Given the description of an element on the screen output the (x, y) to click on. 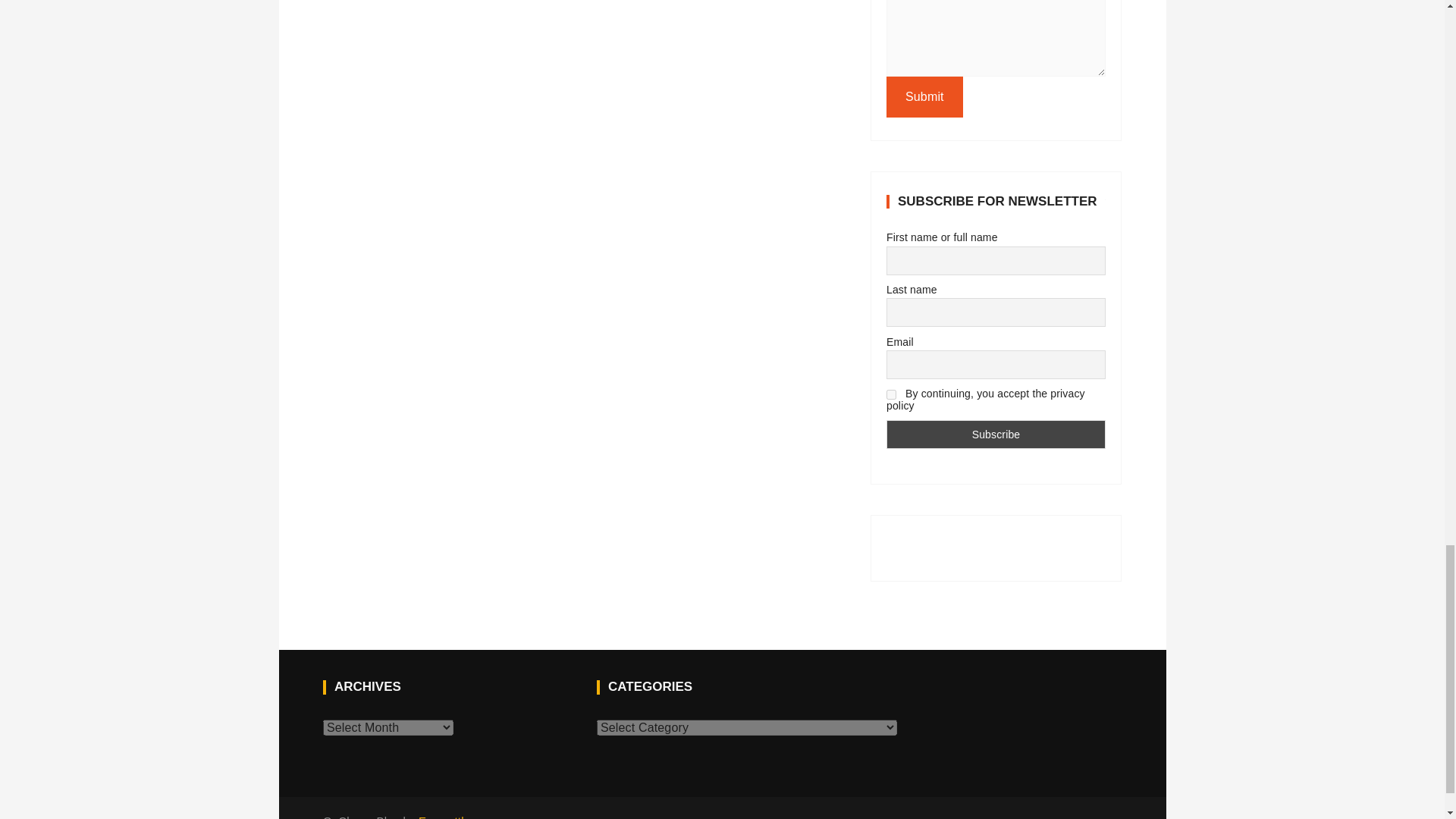
on (891, 394)
Subscribe (995, 434)
